Given the description of an element on the screen output the (x, y) to click on. 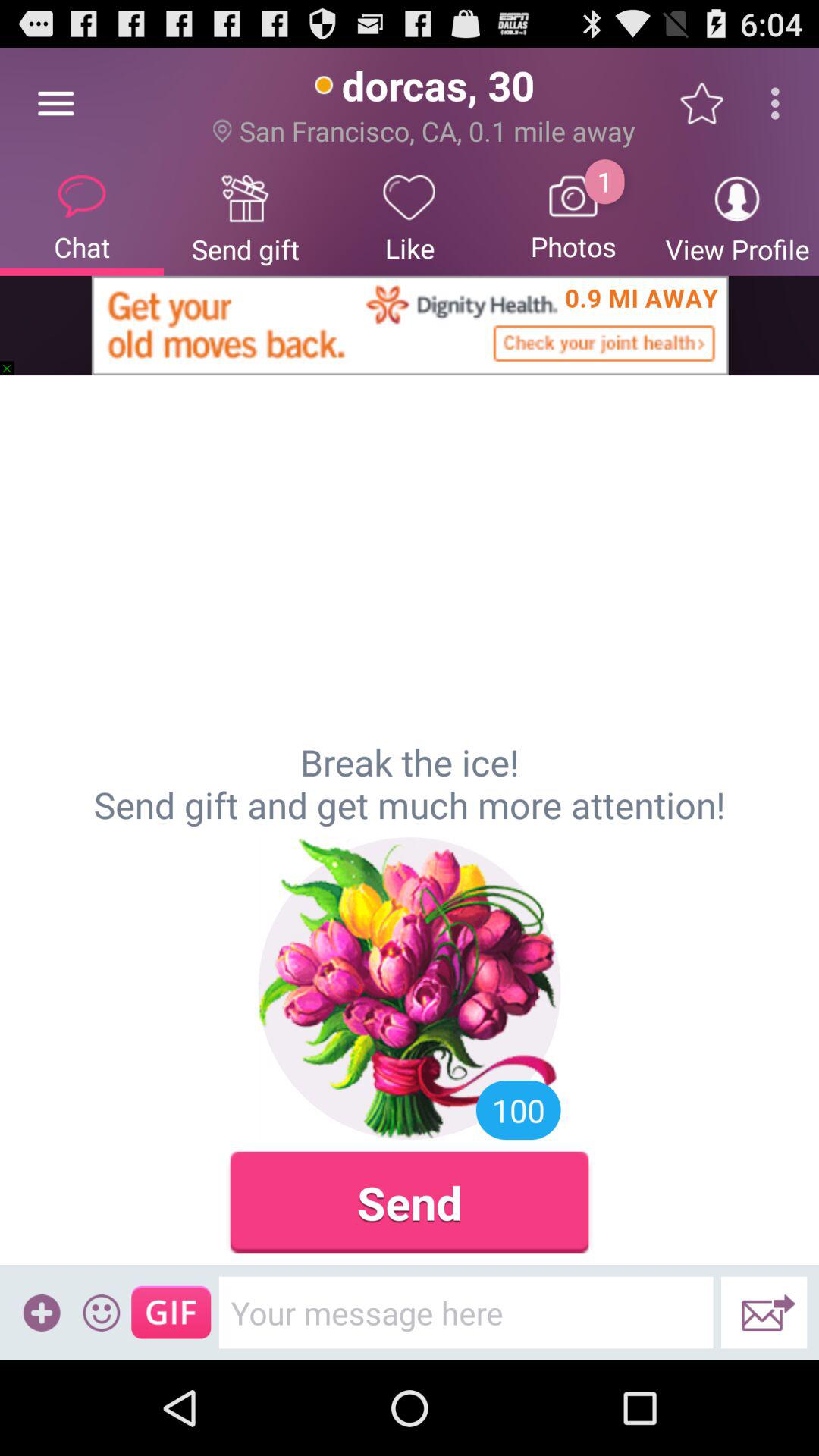
choose the item next to send gift icon (81, 217)
